Given the description of an element on the screen output the (x, y) to click on. 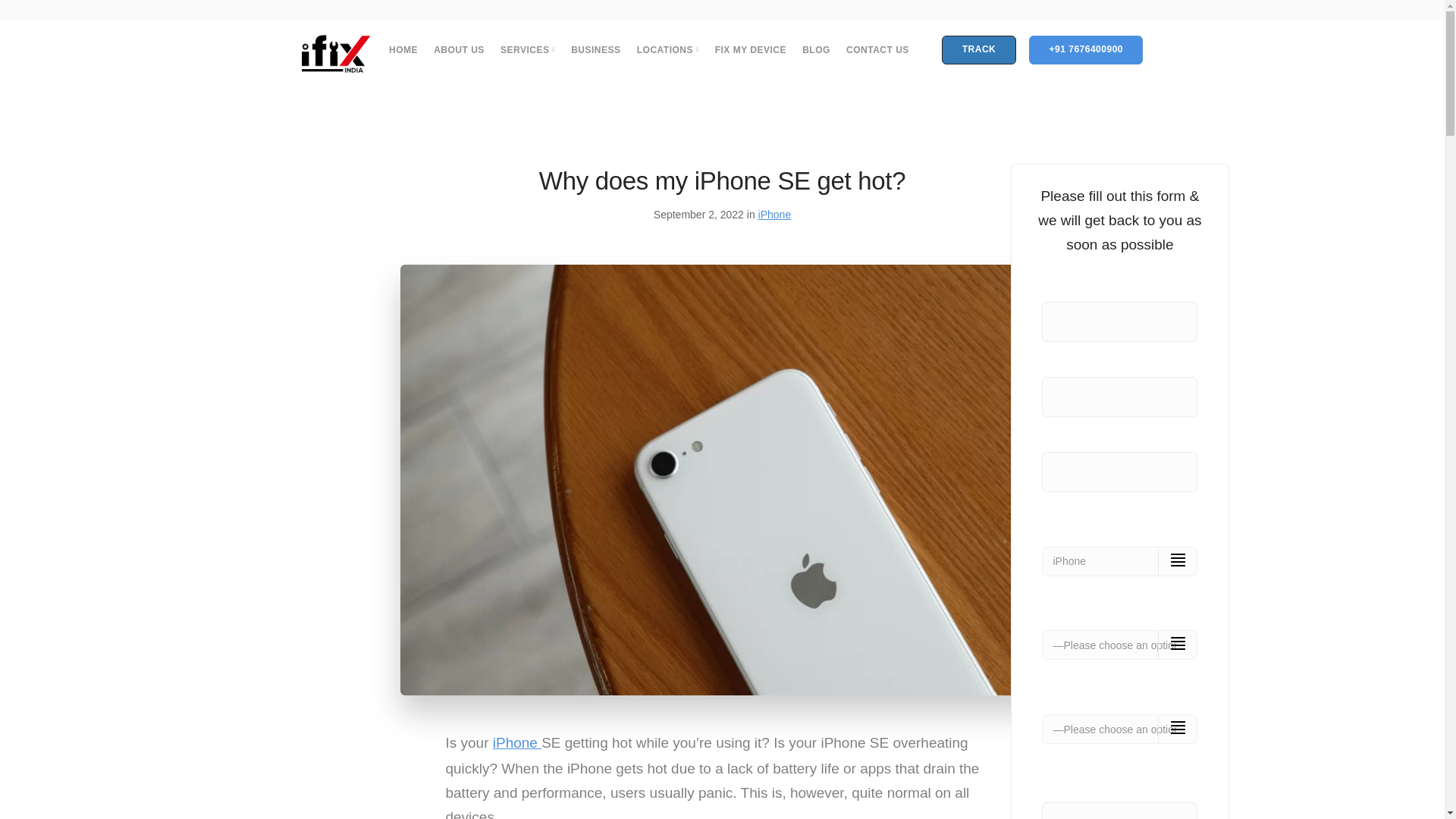
HOME (402, 49)
ABOUT US (458, 49)
CONTACT US (876, 49)
iPhone (775, 214)
TRACK (979, 50)
BUSINESS (595, 49)
FIX MY DEVICE (750, 49)
iPhone (517, 742)
BLOG (815, 49)
